Given the description of an element on the screen output the (x, y) to click on. 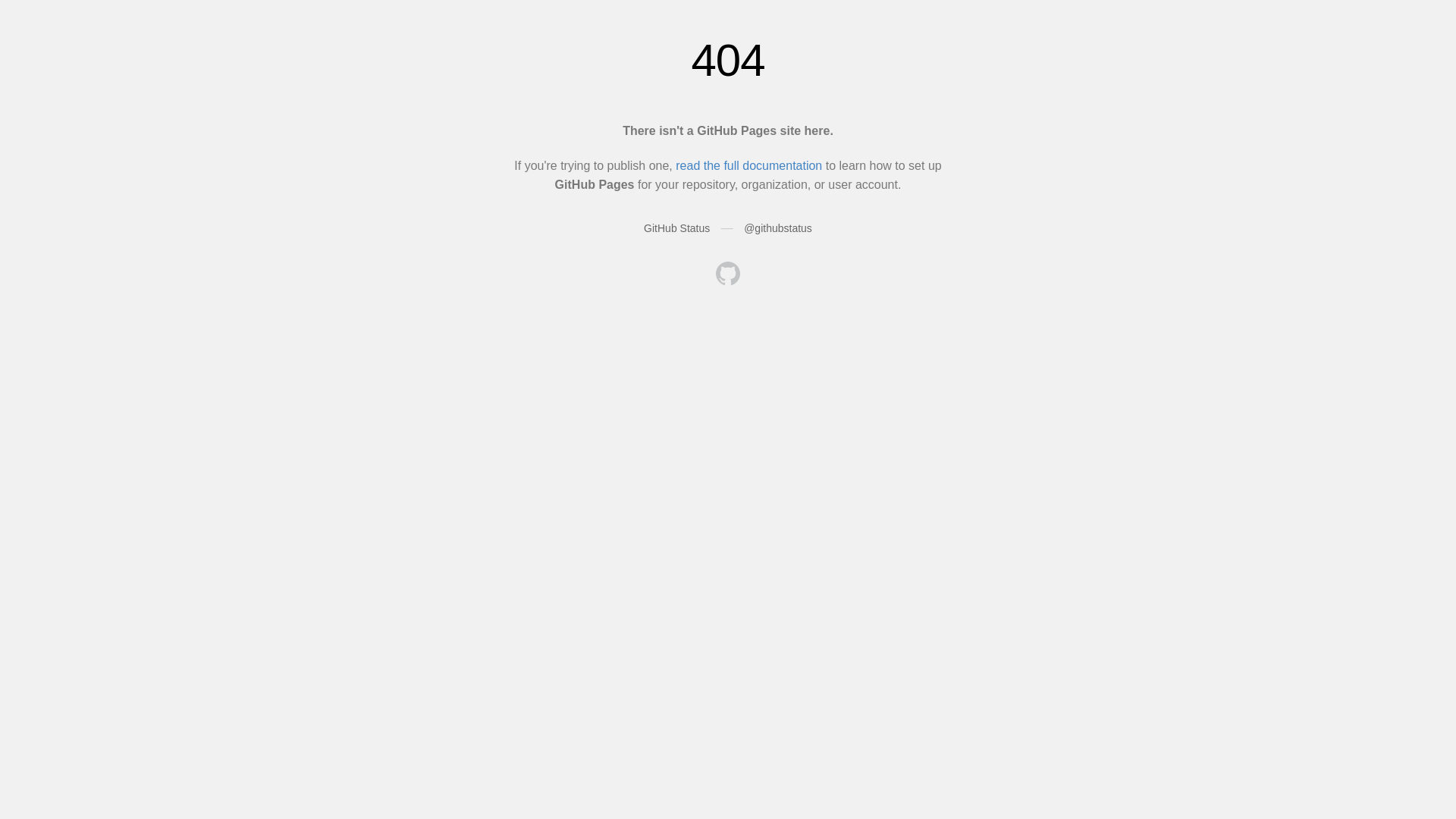
read the full documentation Element type: text (748, 165)
GitHub Status Element type: text (676, 228)
@githubstatus Element type: text (777, 228)
